Given the description of an element on the screen output the (x, y) to click on. 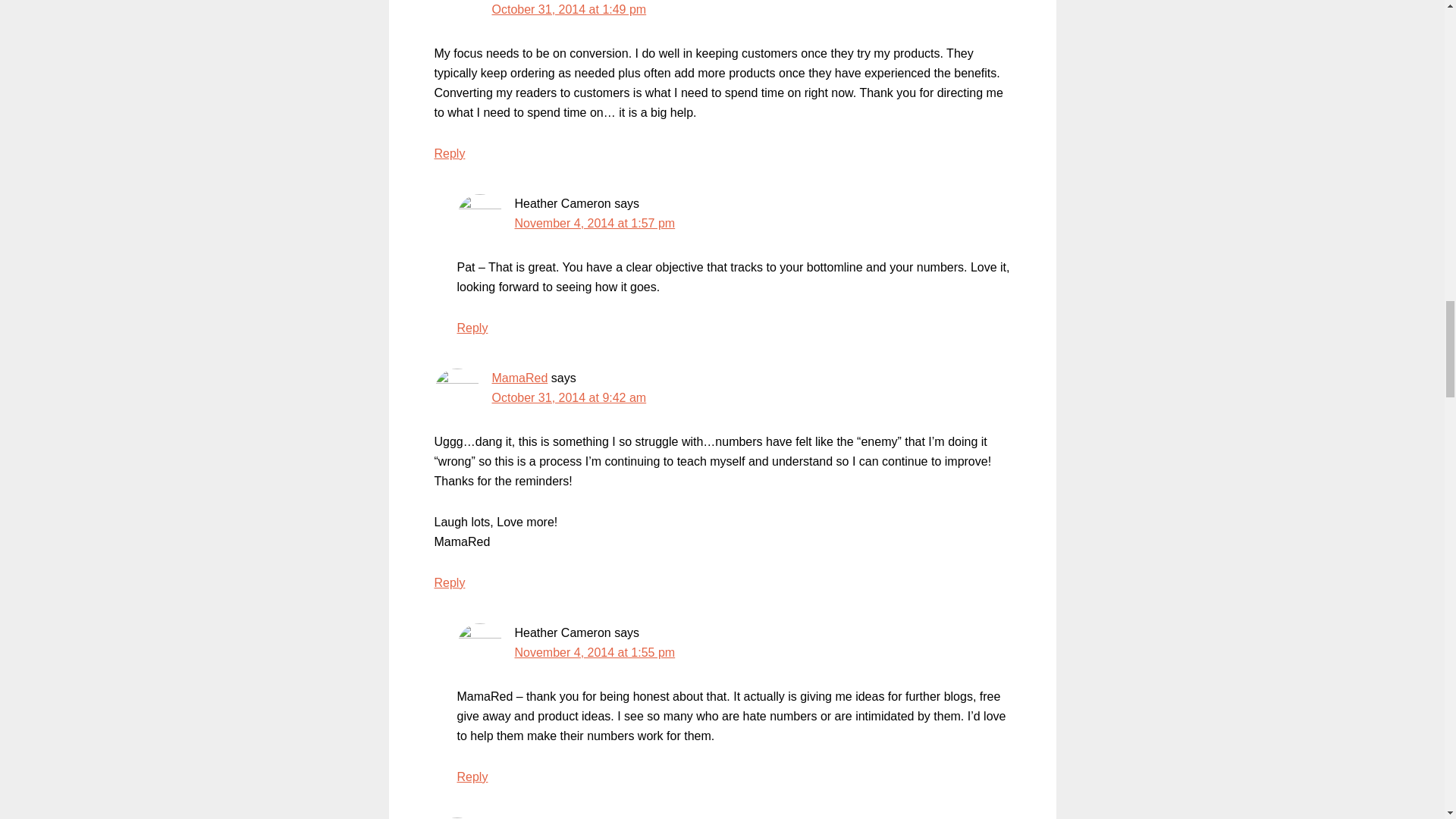
October 31, 2014 at 1:49 pm (569, 9)
